Given the description of an element on the screen output the (x, y) to click on. 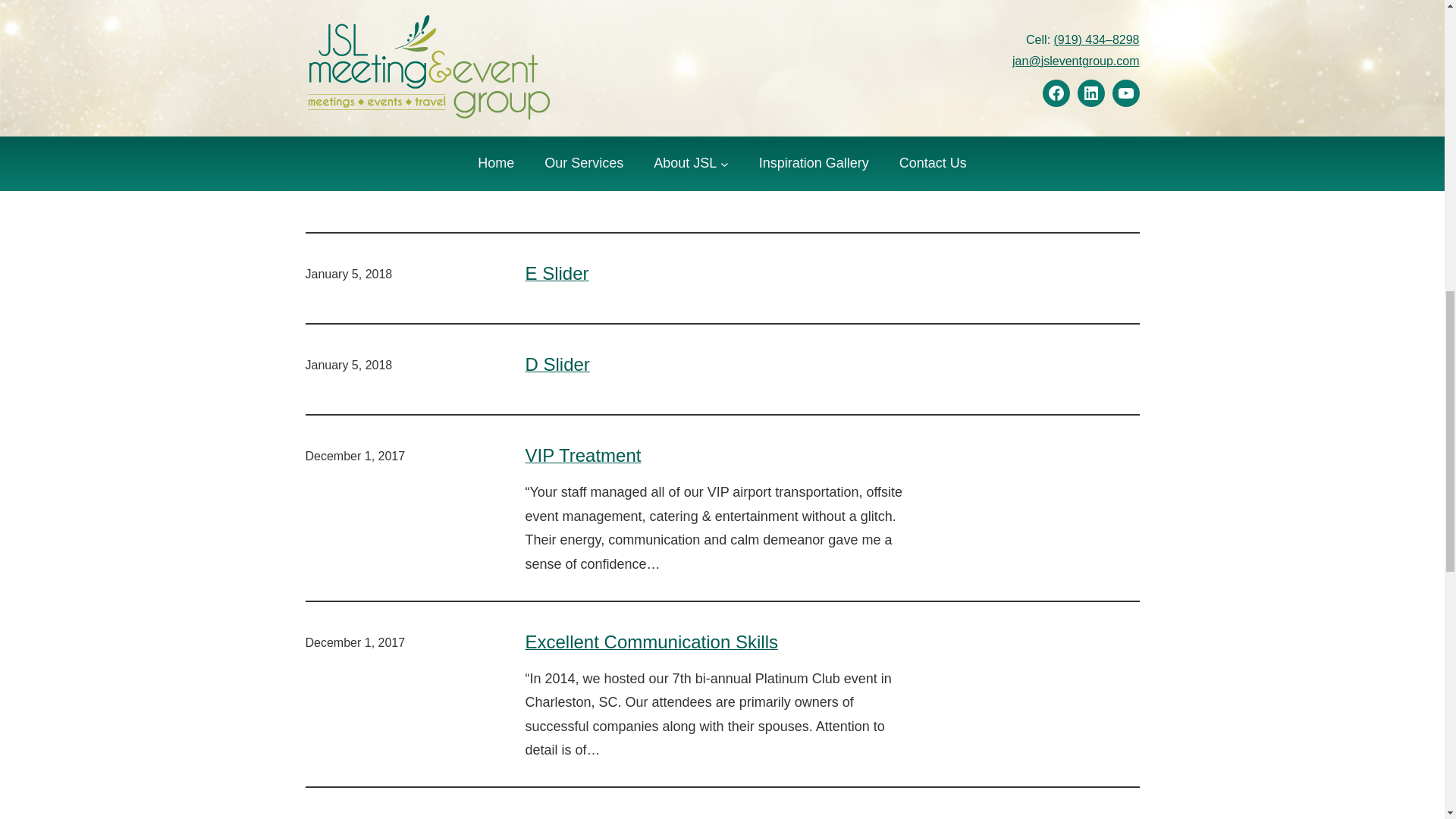
D Slider (556, 364)
corporate gifts (1097, 2)
amenities (1025, 2)
Excellent Communication Skills (650, 641)
A Slider (556, 182)
employee gifts (1015, 42)
DMC (957, 42)
VIP Treatment (582, 455)
swag (1124, 105)
meeting planner (1061, 105)
event planning companies (1064, 62)
destination management company (1042, 20)
3 Tips for Choosing the Best Client Gifts (685, 4)
international meeting planner (1057, 83)
